Given the description of an element on the screen output the (x, y) to click on. 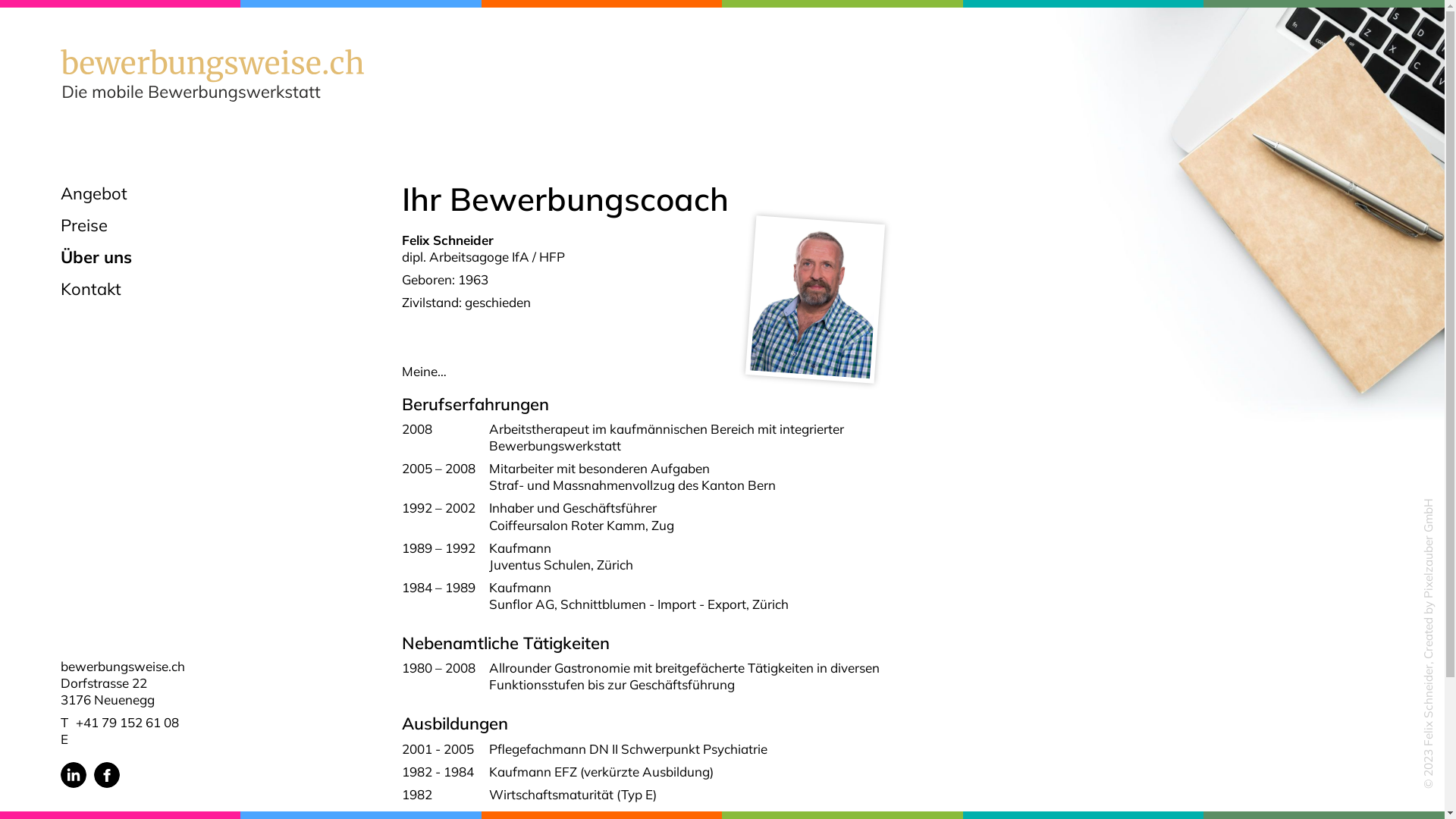
  Element type: text (76, 738)
Kontakt Element type: text (212, 288)
Preise Element type: text (212, 225)
+41 79 152 61 08 Element type: text (126, 722)
facebook Element type: text (106, 774)
linkedin Element type: text (73, 774)
Angebot Element type: text (212, 193)
